Given the description of an element on the screen output the (x, y) to click on. 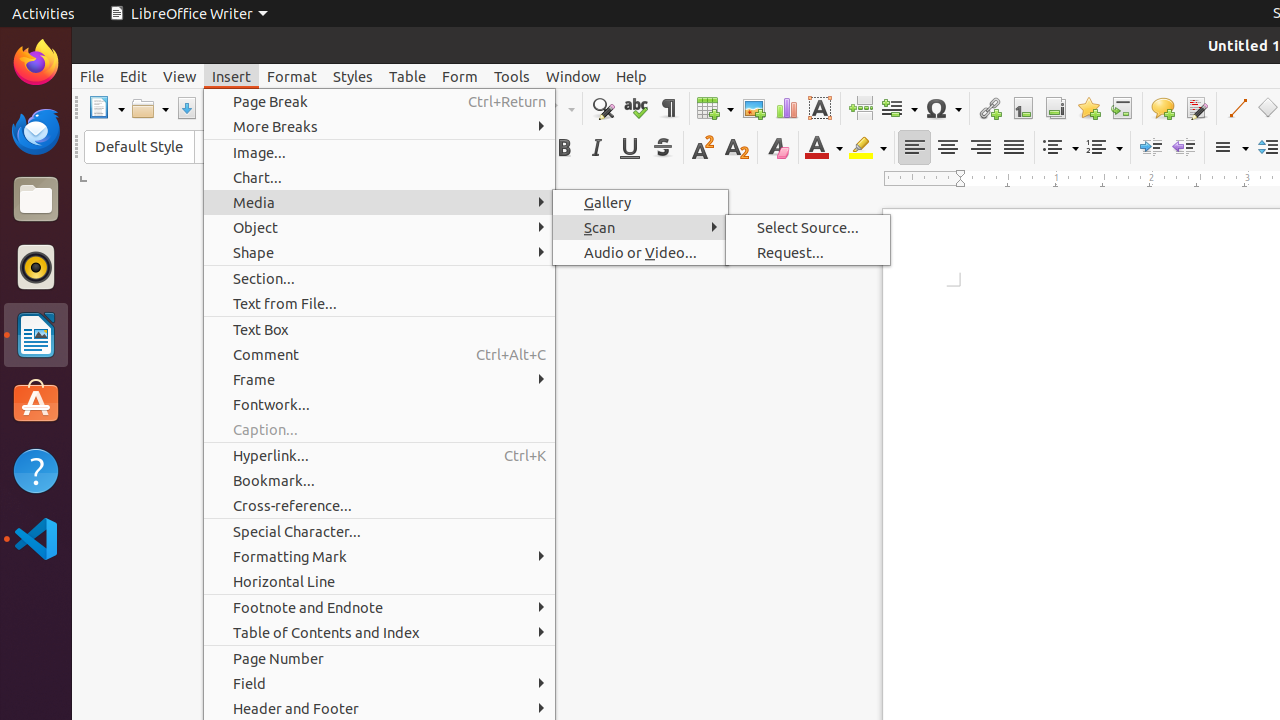
Clear Element type: push-button (777, 147)
Font Color Element type: push-button (824, 147)
Italic Element type: toggle-button (596, 147)
Right Element type: toggle-button (980, 147)
Shape Element type: menu (379, 252)
